Given the description of an element on the screen output the (x, y) to click on. 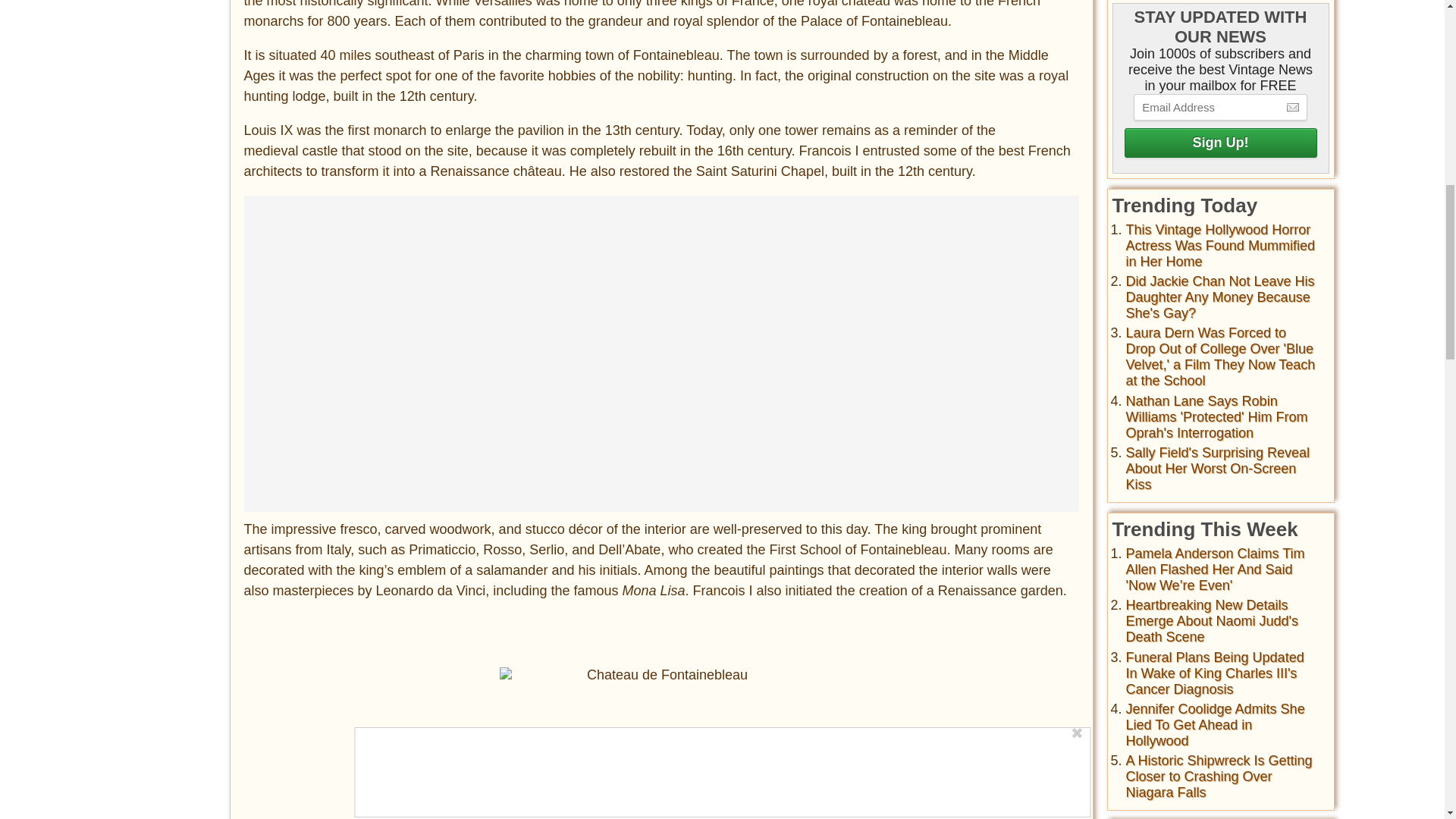
Sign Up! (1220, 142)
